Given the description of an element on the screen output the (x, y) to click on. 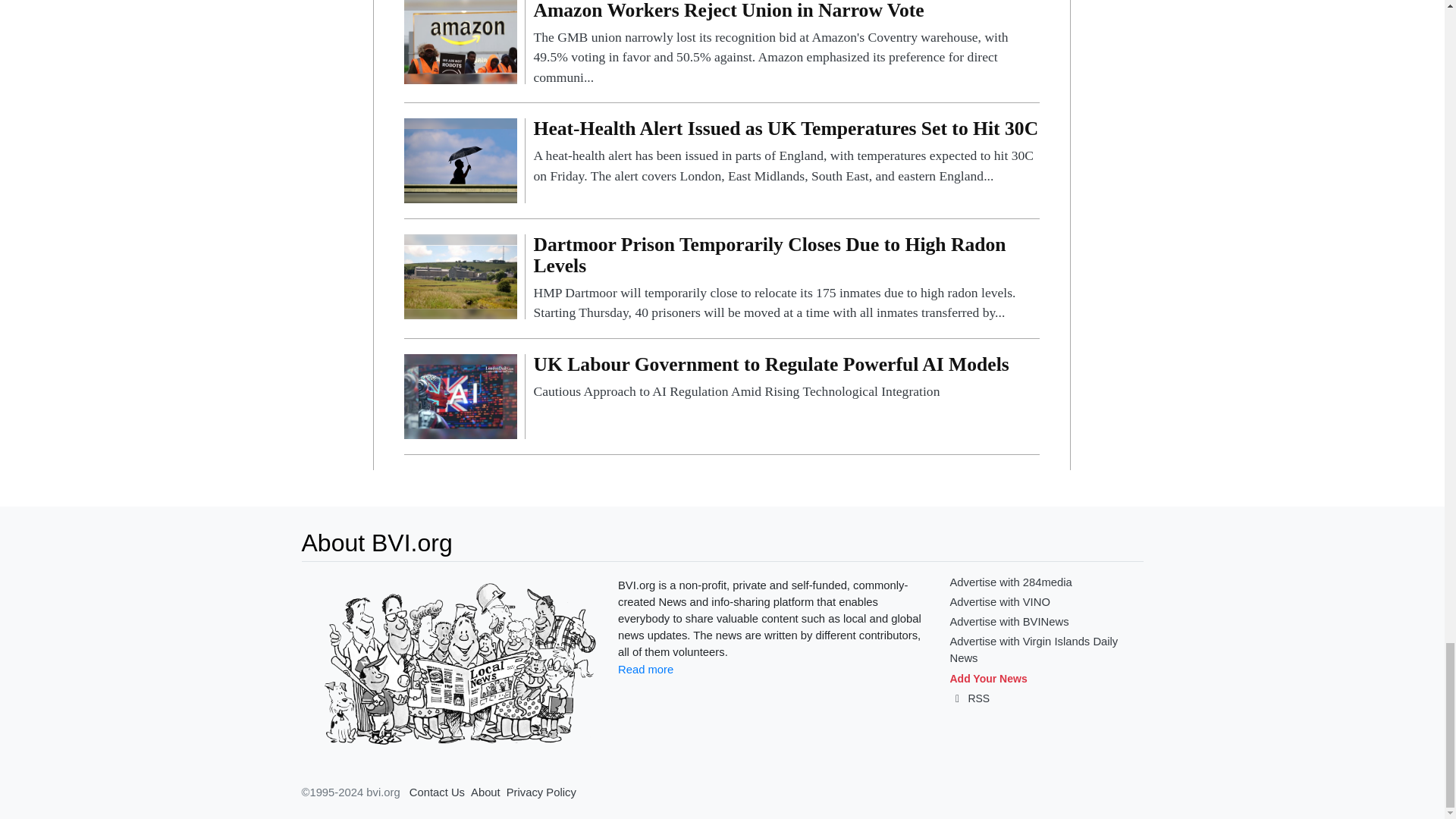
Heat-Health Alert Issued as UK Temperatures Set to Hit 30C (785, 151)
Heat-Health Alert Issued as UK Temperatures Set to Hit 30C (460, 159)
Amazon Workers Reject Union in Narrow Vote (460, 41)
Amazon Workers Reject Union in Narrow Vote (785, 43)
